Given the description of an element on the screen output the (x, y) to click on. 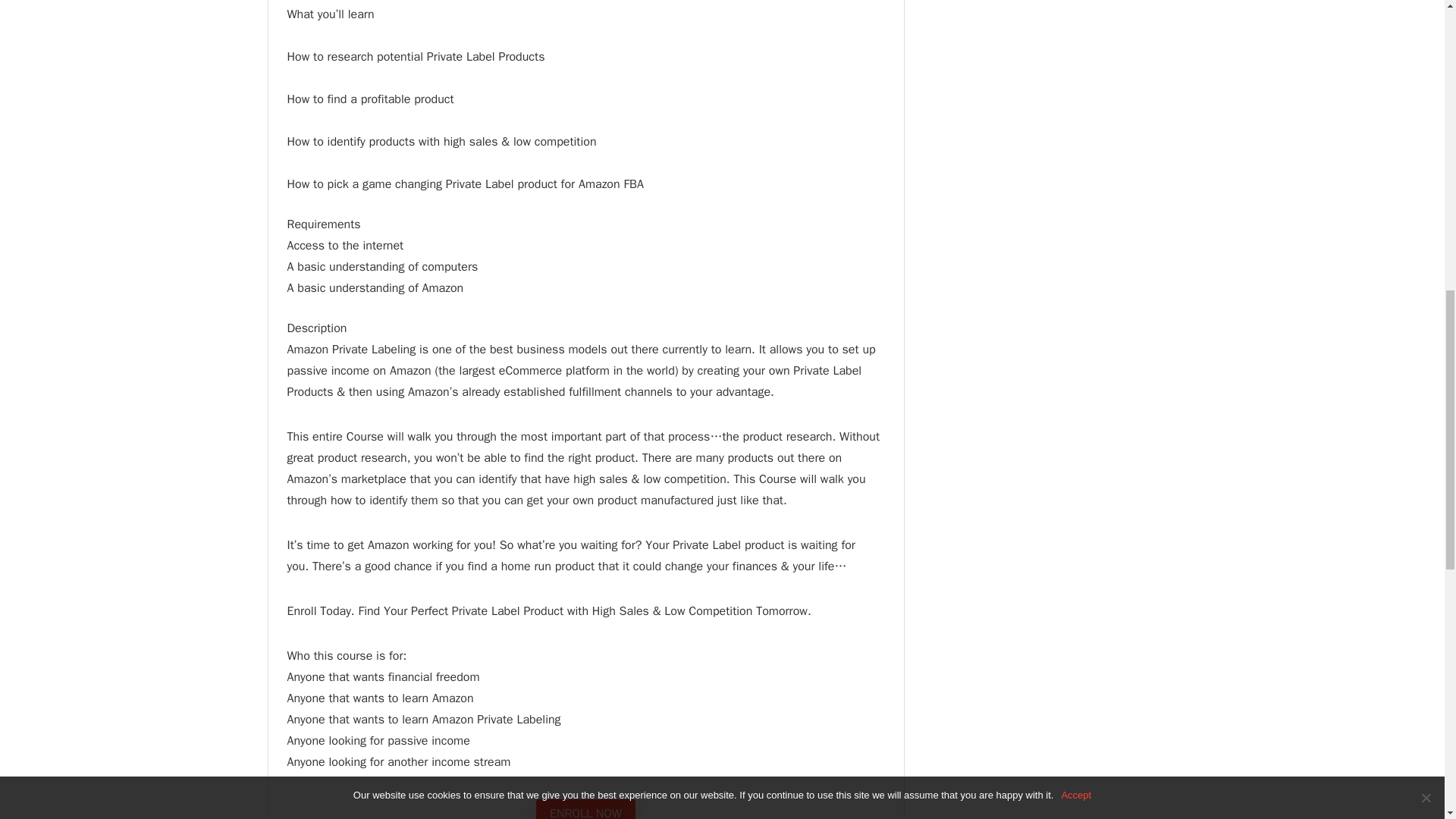
ENROLL NOW (584, 809)
AD (1048, 85)
Advertisement (1048, 85)
